Given the description of an element on the screen output the (x, y) to click on. 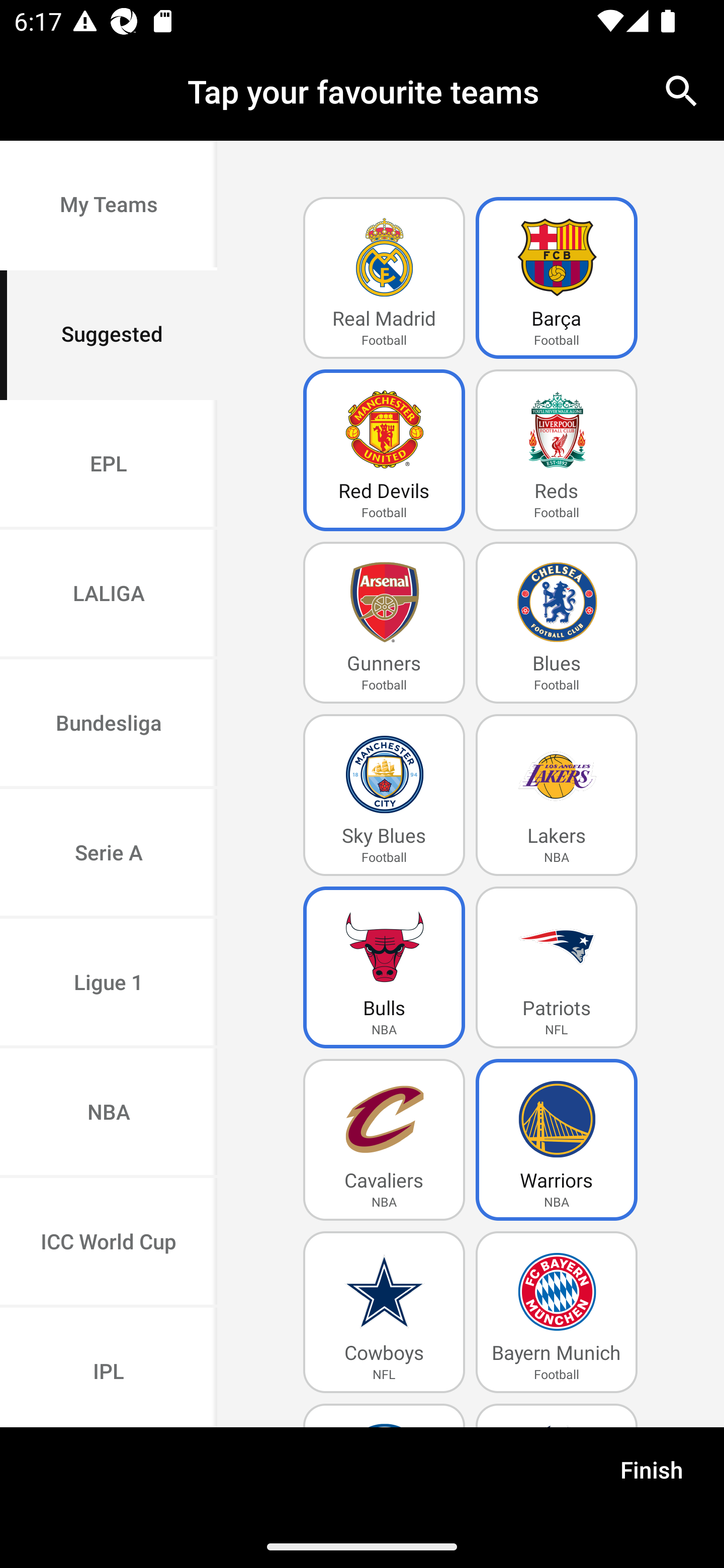
search (681, 90)
My Teams (108, 206)
Real Madrid Real Madrid Football (383, 278)
Barça BarçaSelected Football (556, 278)
Suggested (108, 334)
Red Devils Red DevilsSelected Football (383, 450)
Reds Reds Football (556, 450)
EPL (108, 464)
LALIGA (108, 594)
Gunners Gunners Football (383, 623)
Blues Blues Football (556, 623)
Bundesliga (108, 725)
Sky Blues Sky Blues Football (383, 794)
Lakers Lakers NBA (556, 794)
Serie A (108, 853)
Bulls BullsSelected NBA (383, 966)
Patriots Patriots NFL (556, 966)
Ligue 1 (108, 983)
NBA (108, 1113)
Cavaliers Cavaliers NBA (383, 1139)
Warriors WarriorsSelected NBA (556, 1139)
ICC World Cup (108, 1242)
Cowboys Cowboys NFL (383, 1311)
Bayern Munich Bayern Munich Football (556, 1311)
IPL (108, 1366)
Finish Finish and Close (651, 1475)
